Given the description of an element on the screen output the (x, y) to click on. 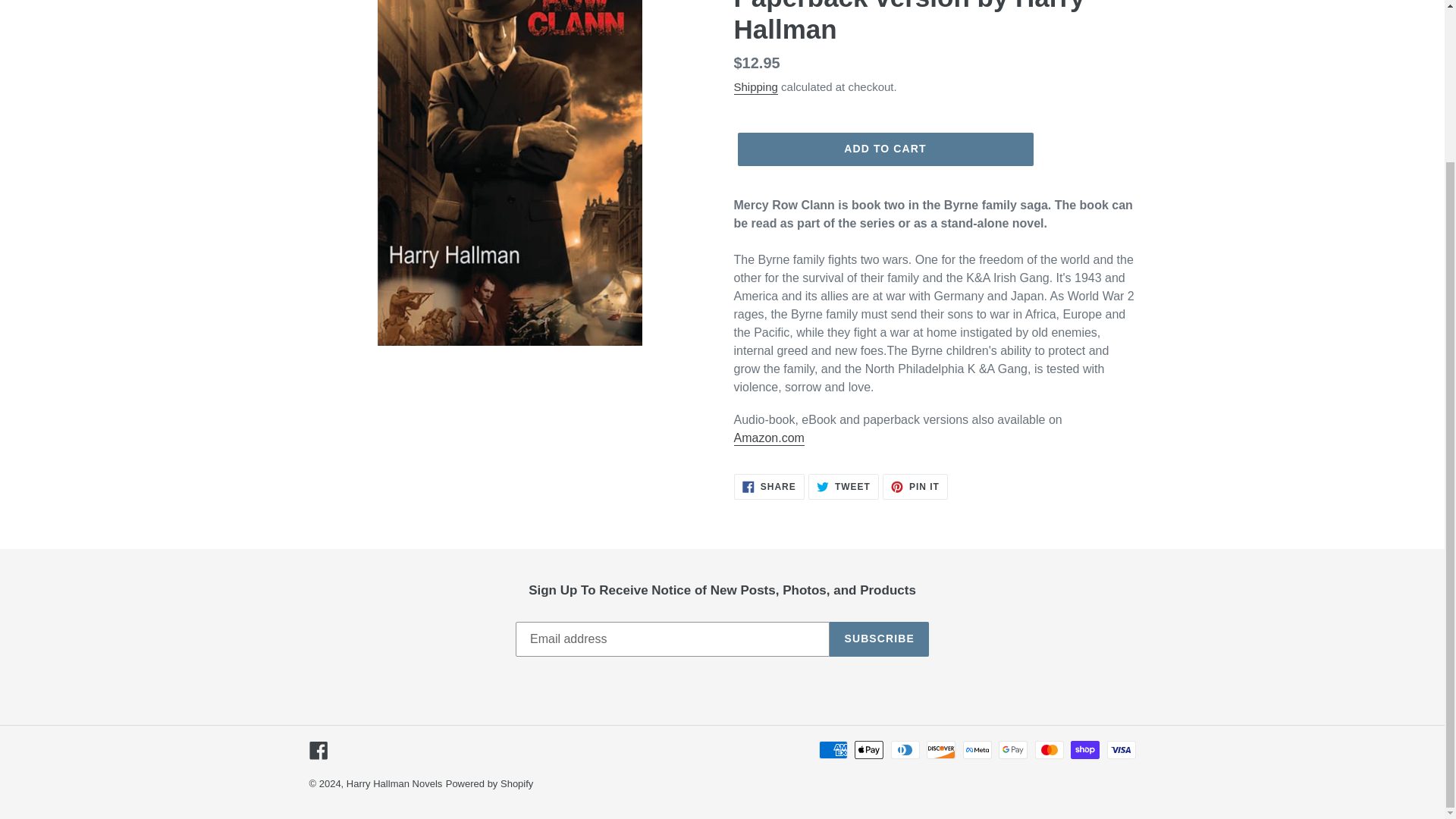
ADD TO CART (914, 486)
SUBSCRIBE (884, 149)
Powered by Shopify (769, 486)
Shipping (878, 638)
Facebook (489, 783)
Amazon.com (755, 87)
Harry Hallman Novels (318, 750)
